Given the description of an element on the screen output the (x, y) to click on. 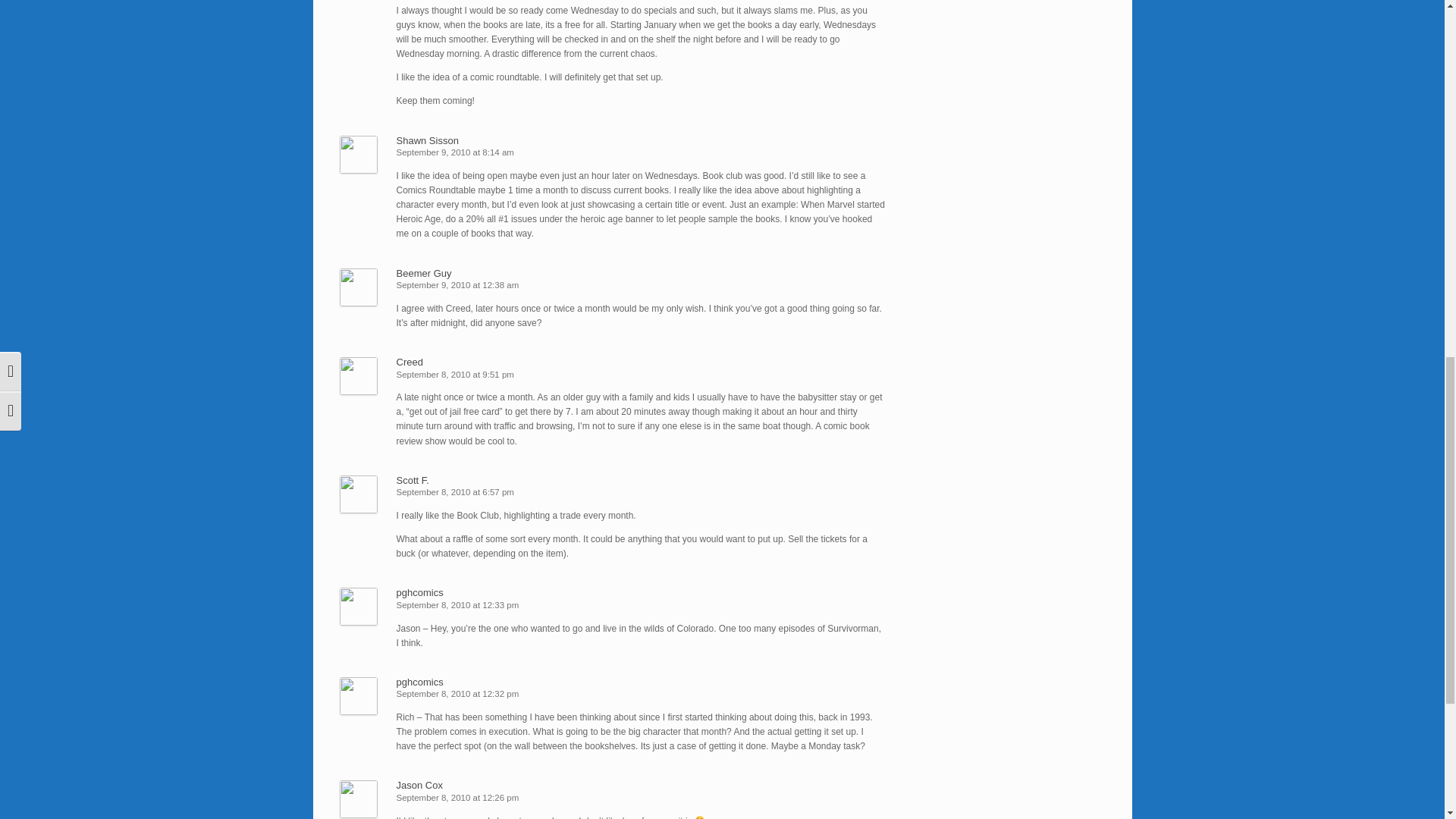
September 9, 2010 at 12:38 am (457, 284)
September 9, 2010 at 8:14 am (454, 152)
